Given the description of an element on the screen output the (x, y) to click on. 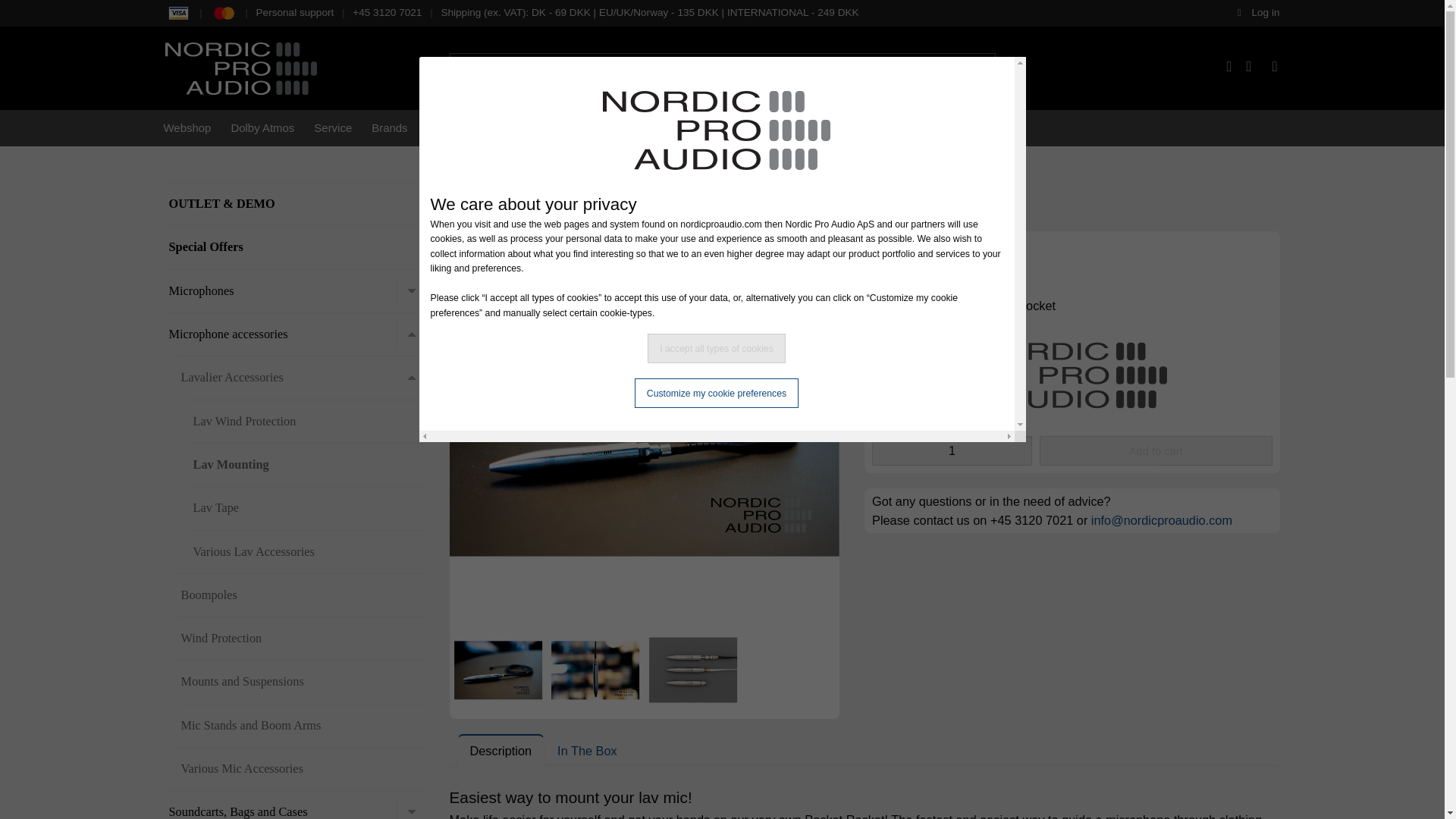
1 (952, 450)
Toggle menu (411, 291)
Toggle menu (411, 334)
I accept all types of cookies (716, 348)
Description (501, 750)
Toggle menu (411, 807)
Customize my cookie preferences (715, 392)
Add to cart (1155, 450)
Toggle menu (411, 377)
I accept all types of cookies (716, 348)
In The Box (586, 750)
